Given the description of an element on the screen output the (x, y) to click on. 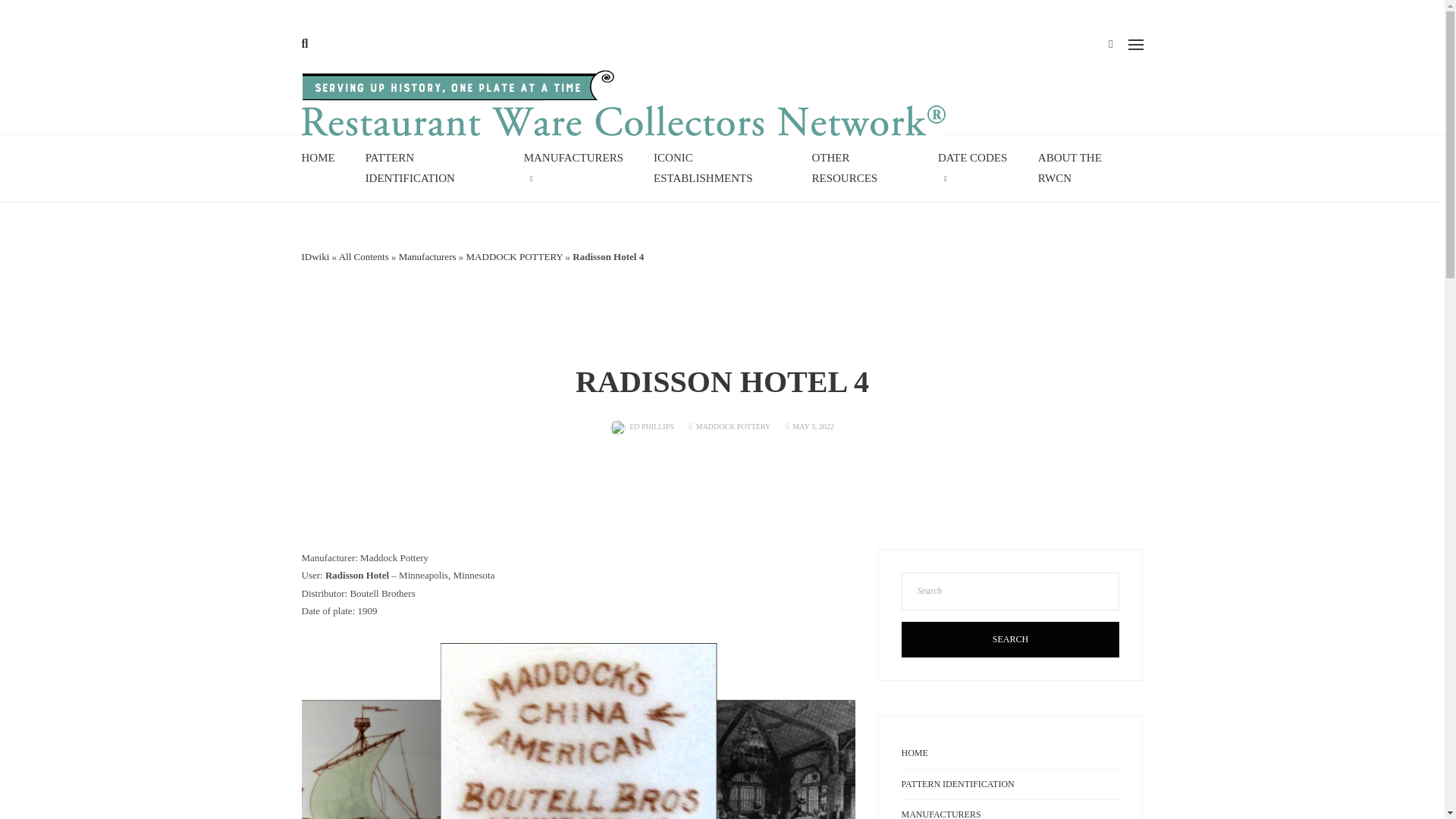
MADDOCK POTTERY (732, 426)
Restaurant Ware Collectors Network (622, 107)
